Given the description of an element on the screen output the (x, y) to click on. 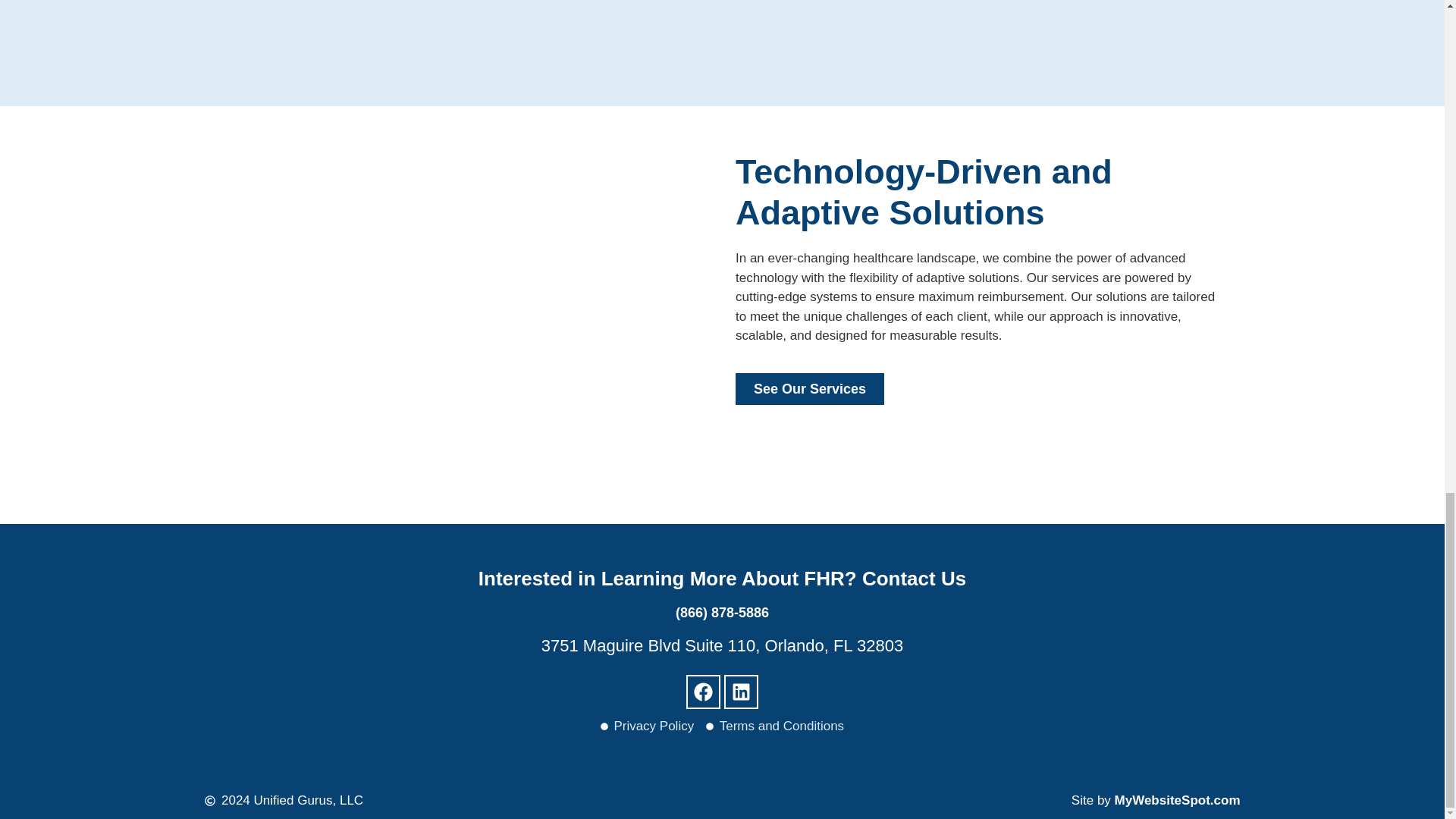
See Our Services (809, 388)
Terms and Conditions (775, 726)
MyWebsiteSpot.com (1177, 800)
Privacy Policy (646, 726)
